Given the description of an element on the screen output the (x, y) to click on. 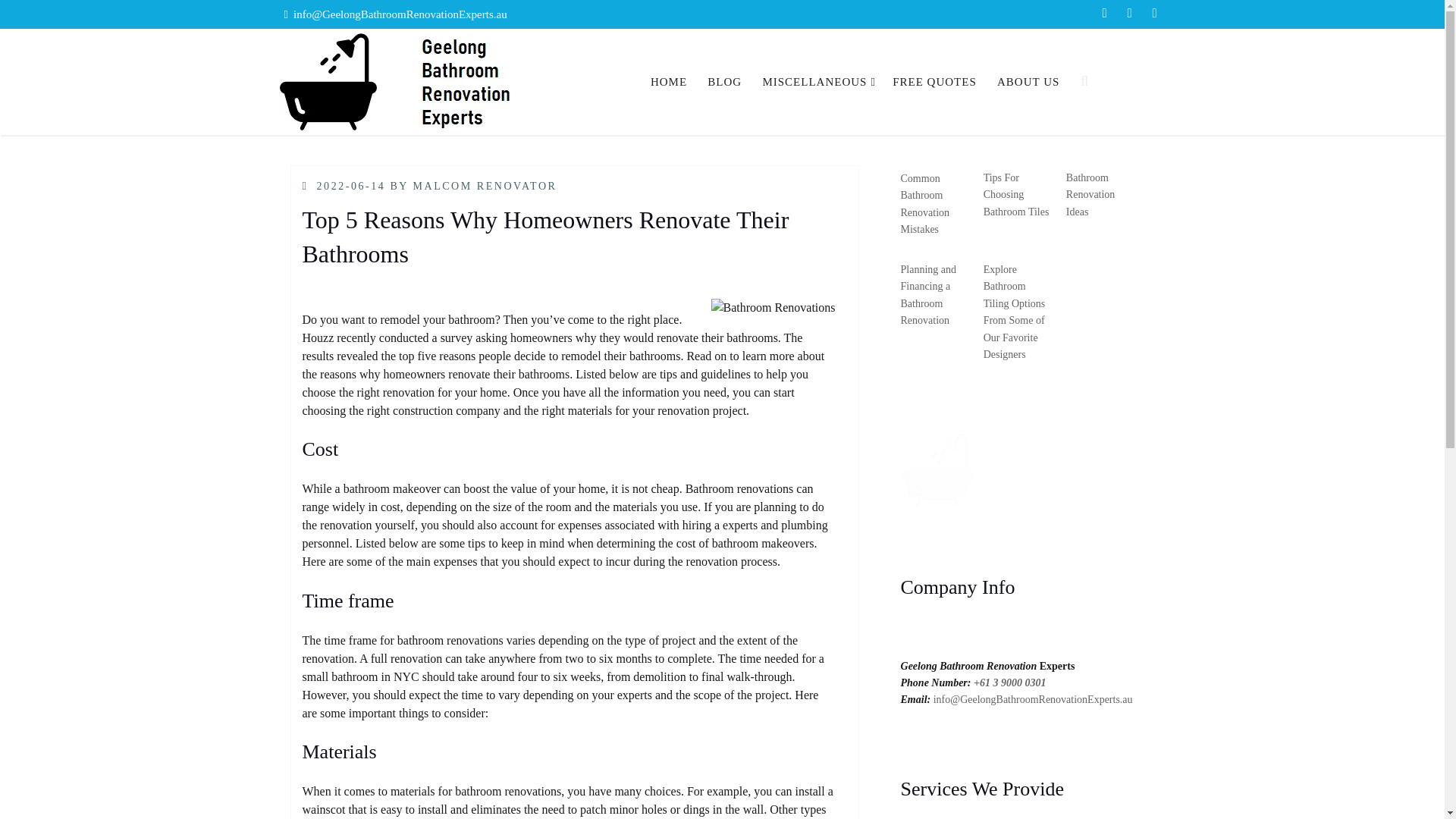
MISCELLANEOUS (817, 81)
Pinterest (1153, 14)
Tips For Choosing Bathroom Tiles (1016, 194)
BLOG (723, 81)
Planning and Financing a Bathroom Renovation (928, 294)
Bathroom Renovation Ideas (1090, 194)
2022-06-14 (351, 185)
FREE QUOTES (934, 81)
HOME (668, 81)
Facebook (1104, 14)
Twitter (1129, 14)
MALCOM RENOVATOR (484, 185)
ABOUT US (1028, 81)
